Given the description of an element on the screen output the (x, y) to click on. 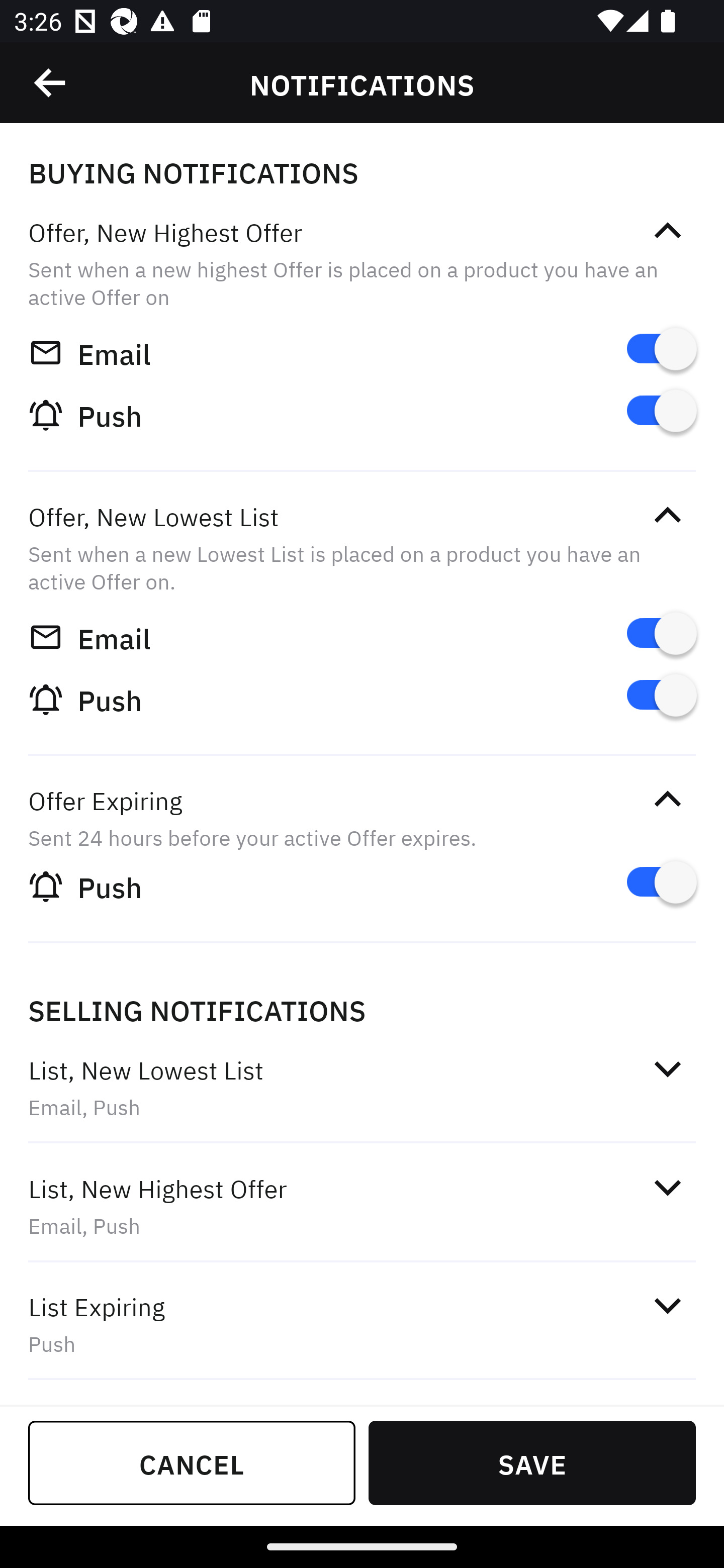
 (50, 83)
 (667, 231)
 (667, 514)
 (667, 799)
List, New Lowest List  Email, Push (361, 1087)
 (667, 1068)
List, New Highest Offer  Email, Push (361, 1206)
 (667, 1187)
List Expiring  Push (361, 1323)
 (667, 1305)
CANCEL (191, 1462)
SAVE (531, 1462)
